Given the description of an element on the screen output the (x, y) to click on. 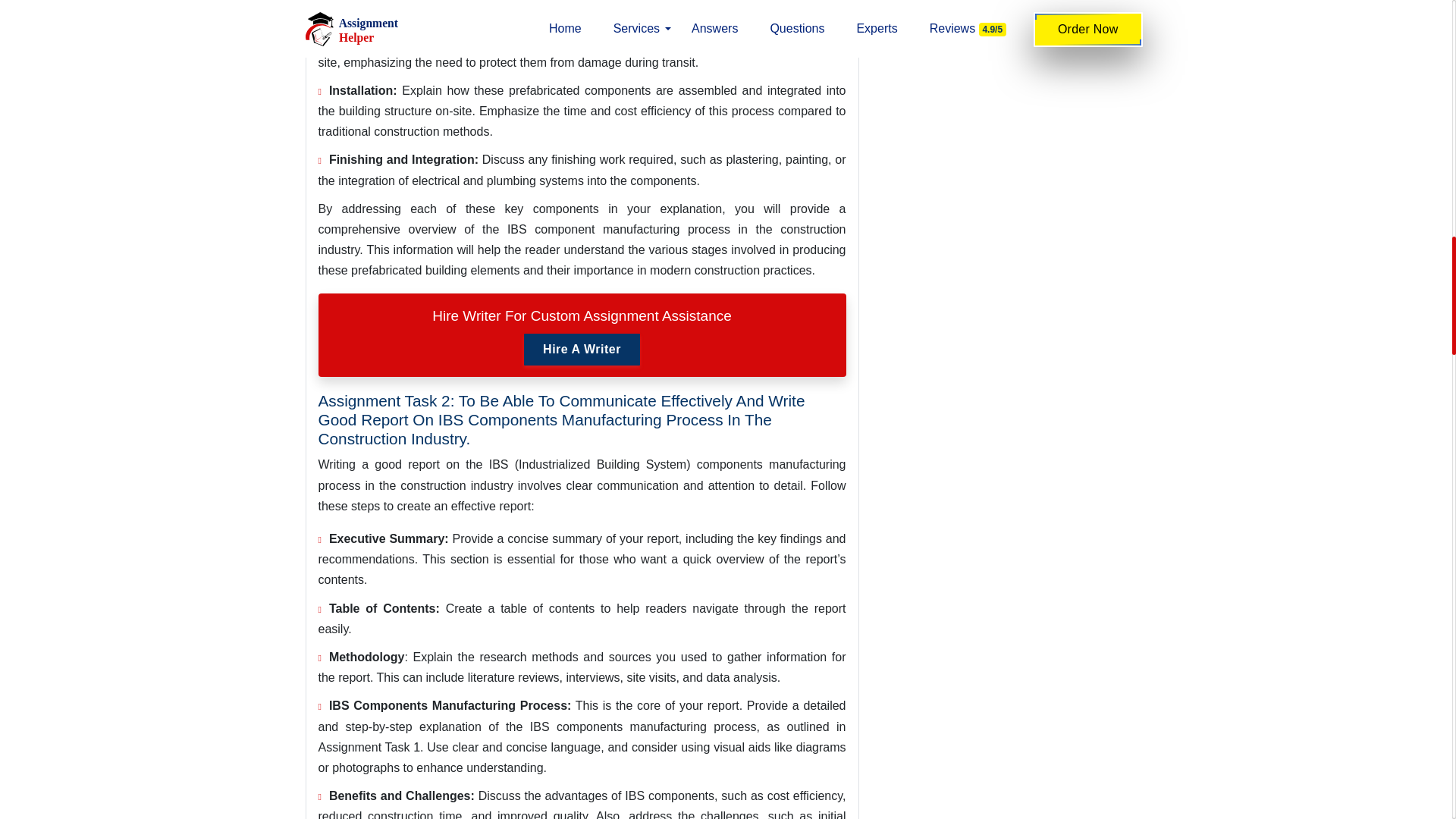
Hire A Writer (582, 349)
